Given the description of an element on the screen output the (x, y) to click on. 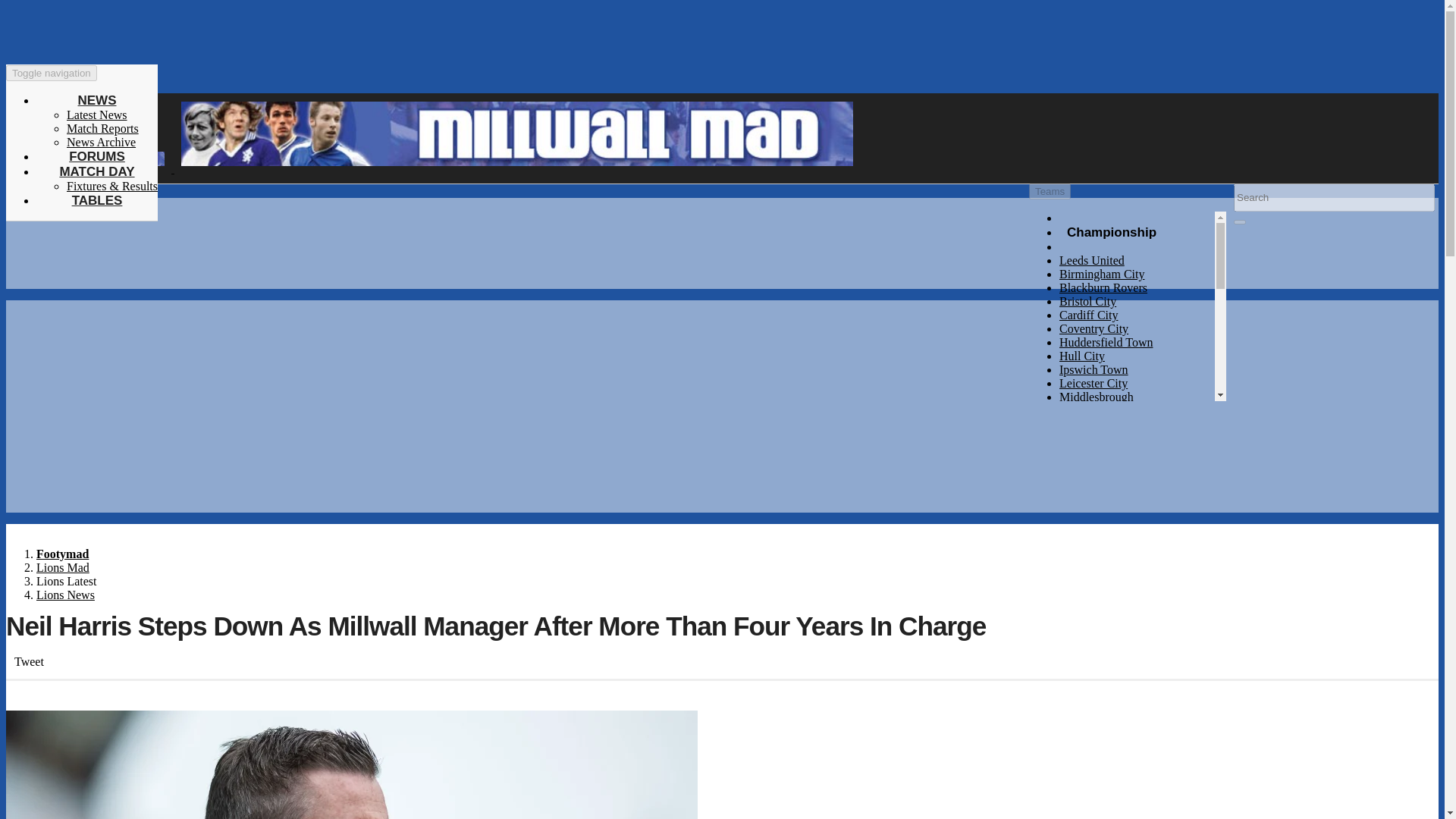
FORUMS (96, 156)
MATCH DAY (96, 171)
News Archive (100, 141)
Queens Park Rangers (1111, 464)
Sunderland (1087, 533)
Scotland (1080, 671)
News Archive (100, 141)
Ipswich Town (1093, 369)
Match Reports (102, 128)
Coventry City (1093, 328)
Plymouth Argyle (1100, 437)
Preston North End (1104, 451)
Cardiff City (1088, 314)
Match Reports (102, 128)
Swansea City (1092, 546)
